Given the description of an element on the screen output the (x, y) to click on. 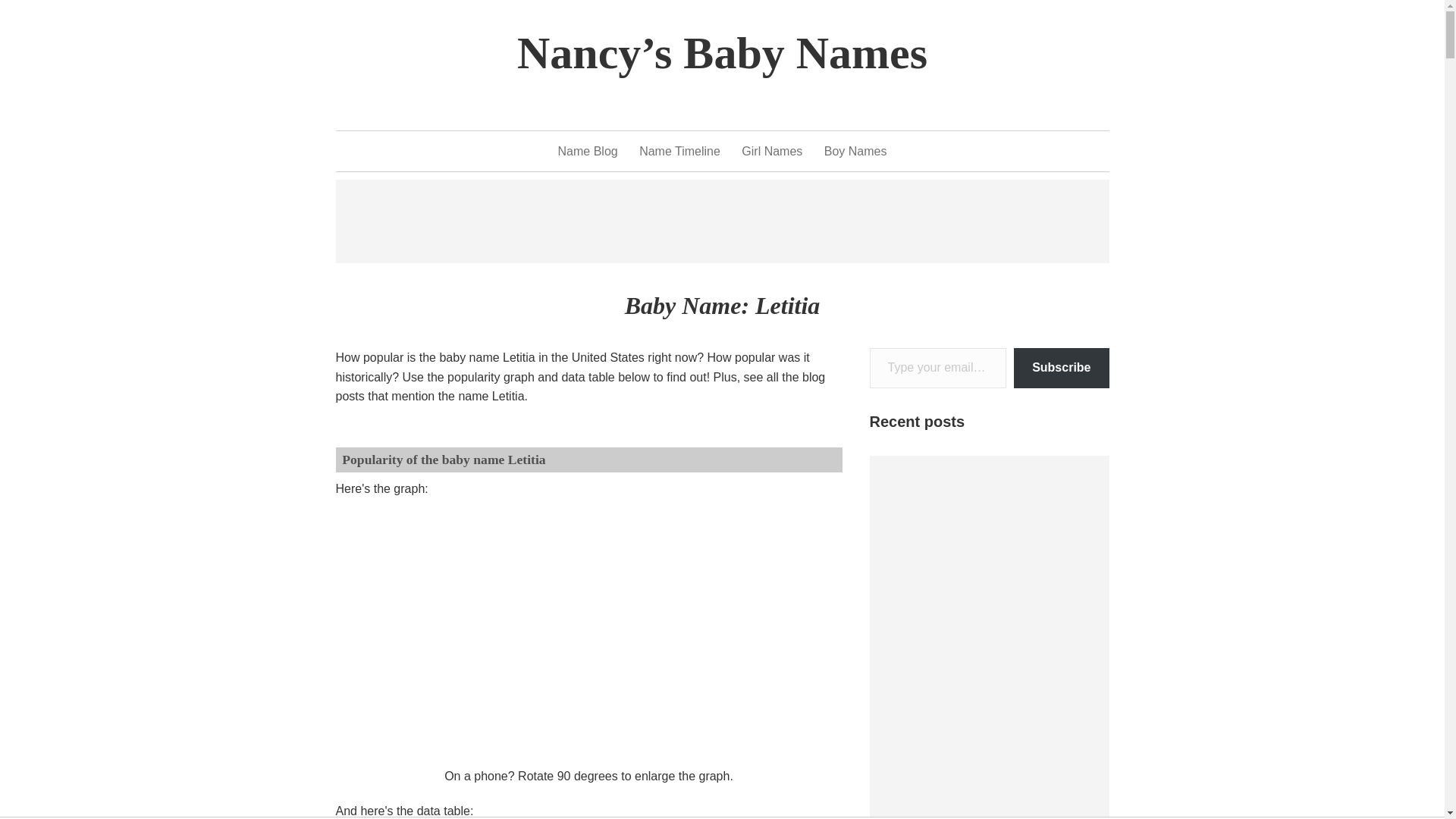
Baby Girl Names (771, 151)
Baby Boy Names (855, 151)
Baby Name Timeline (679, 151)
Please fill in this field. (937, 368)
Name Blog (587, 151)
Boy Names (855, 151)
Girl Names (771, 151)
Name Timeline (679, 151)
